Given the description of an element on the screen output the (x, y) to click on. 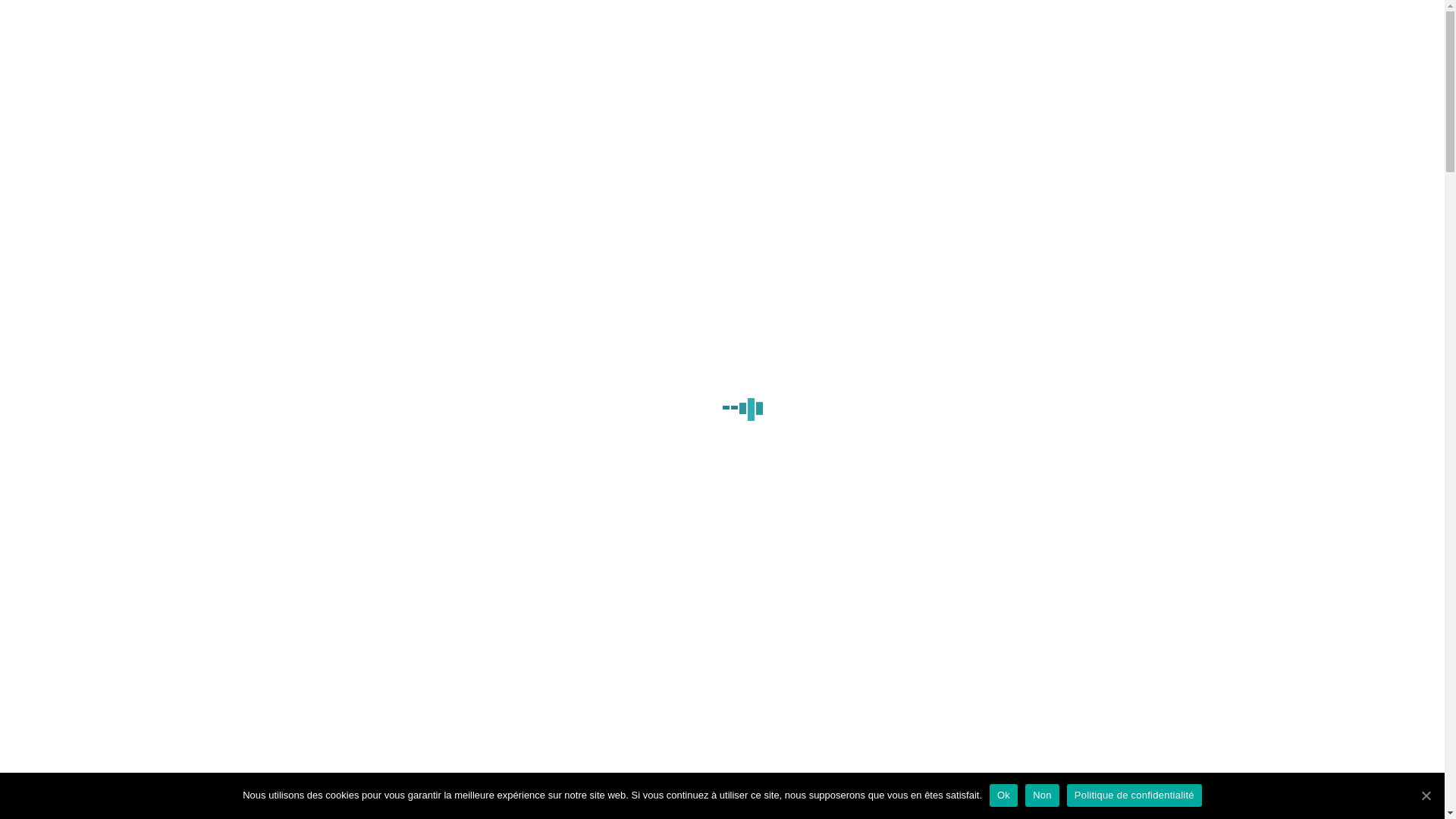
Non Element type: text (1042, 795)
Debugging in WordPress Element type: text (802, 23)
FAQ Element type: text (1084, 26)
Ok Element type: text (1003, 795)
Blog Element type: text (911, 26)
0 Element type: text (1165, 21)
NL Element type: text (1125, 26)
Venez voler avec nous Element type: text (997, 26)
Belgian balloon club Element type: text (281, 189)
